Given the description of an element on the screen output the (x, y) to click on. 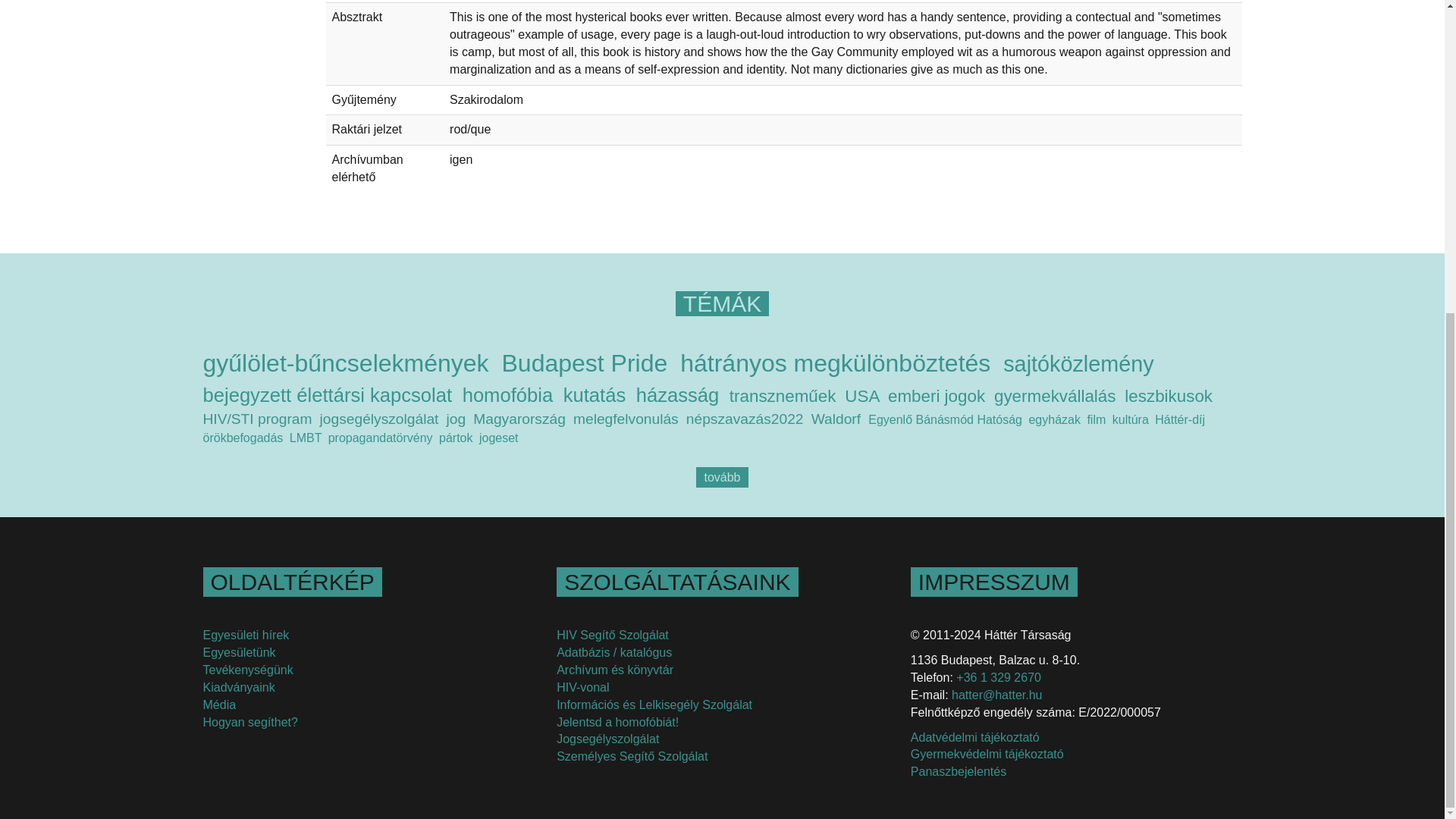
USA (861, 395)
Budapest Pride (583, 362)
